Given the description of an element on the screen output the (x, y) to click on. 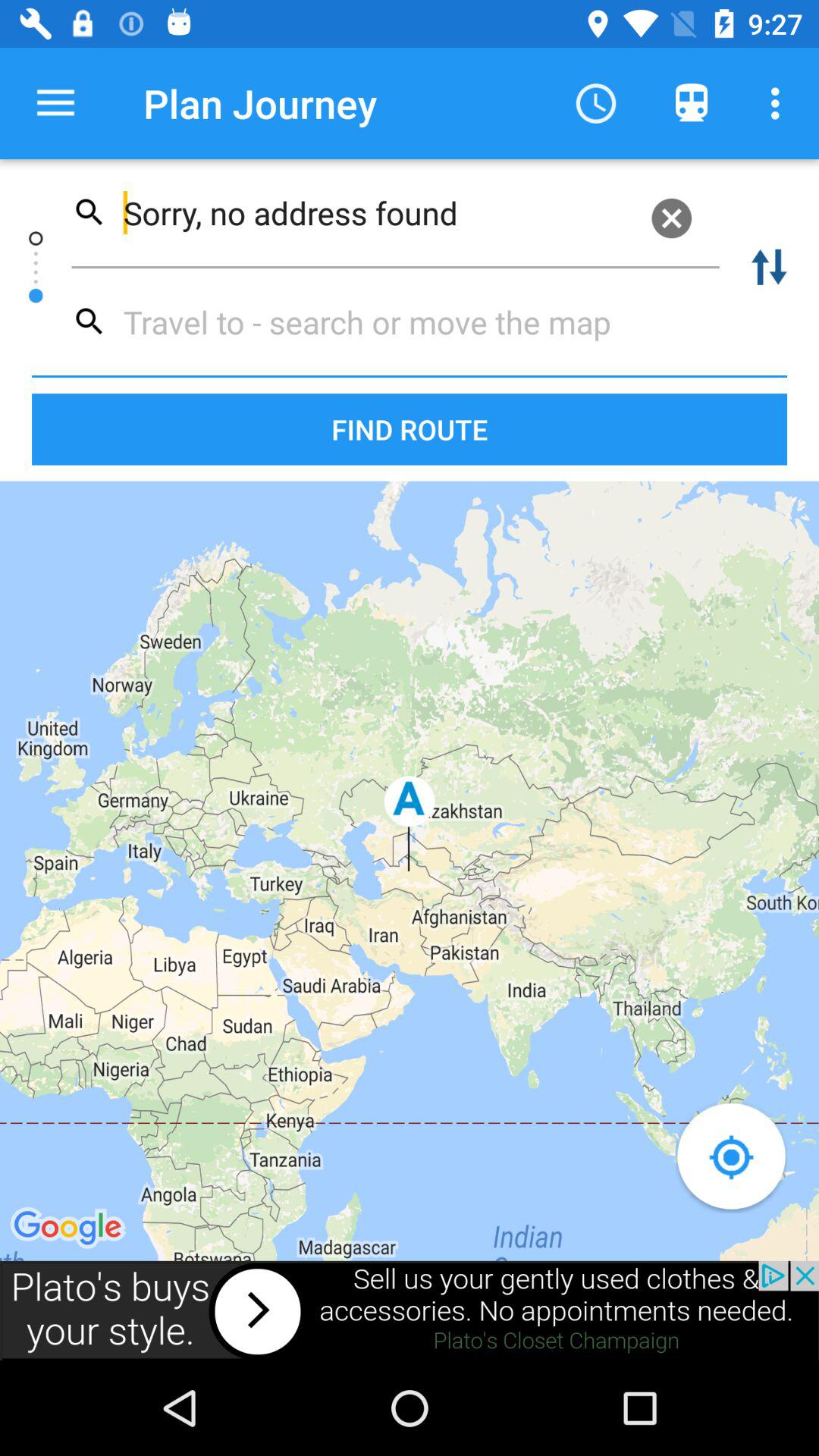
reverse locations (769, 266)
